Given the description of an element on the screen output the (x, y) to click on. 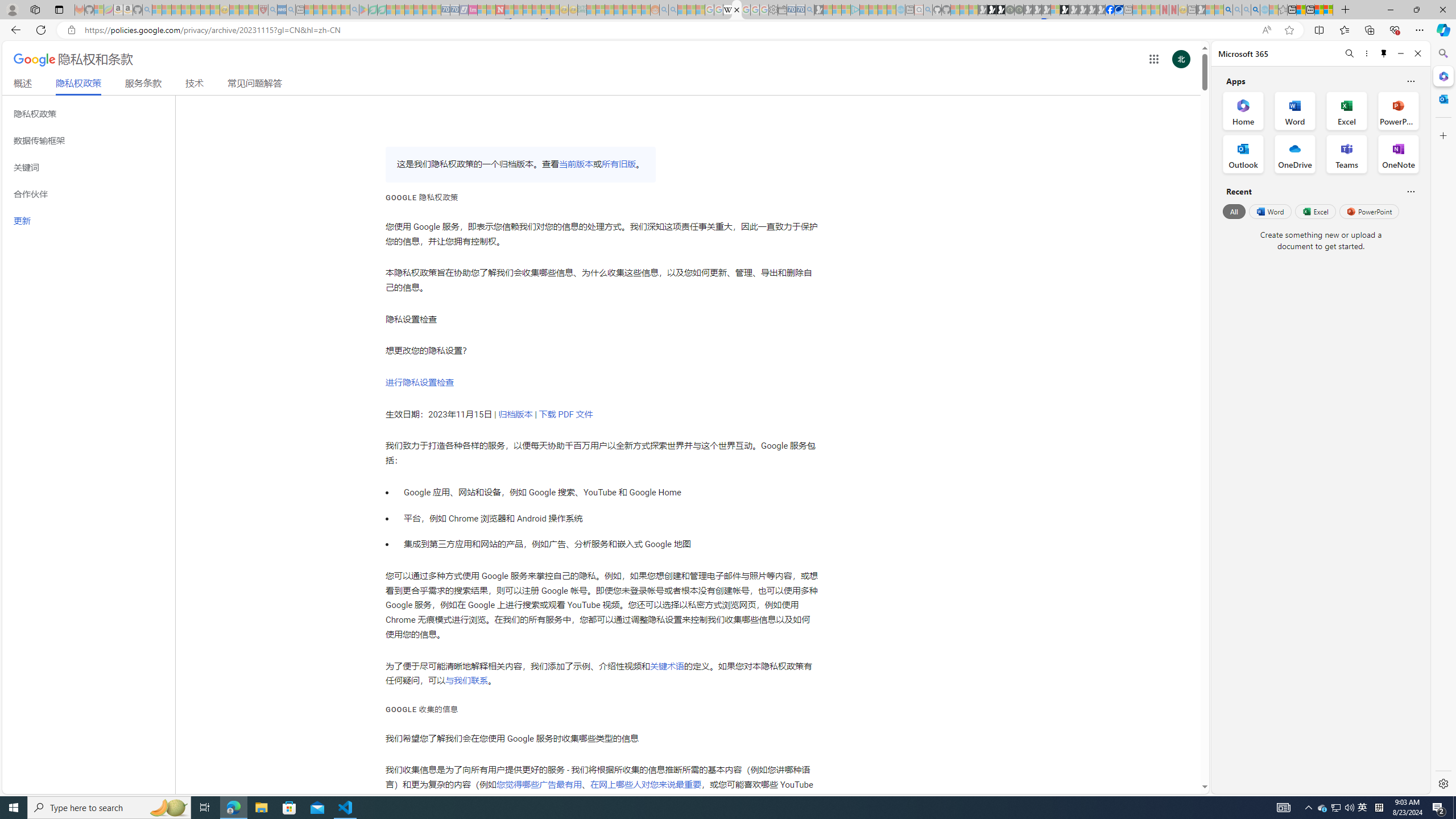
PowerPoint Office App (1398, 110)
